Given the description of an element on the screen output the (x, y) to click on. 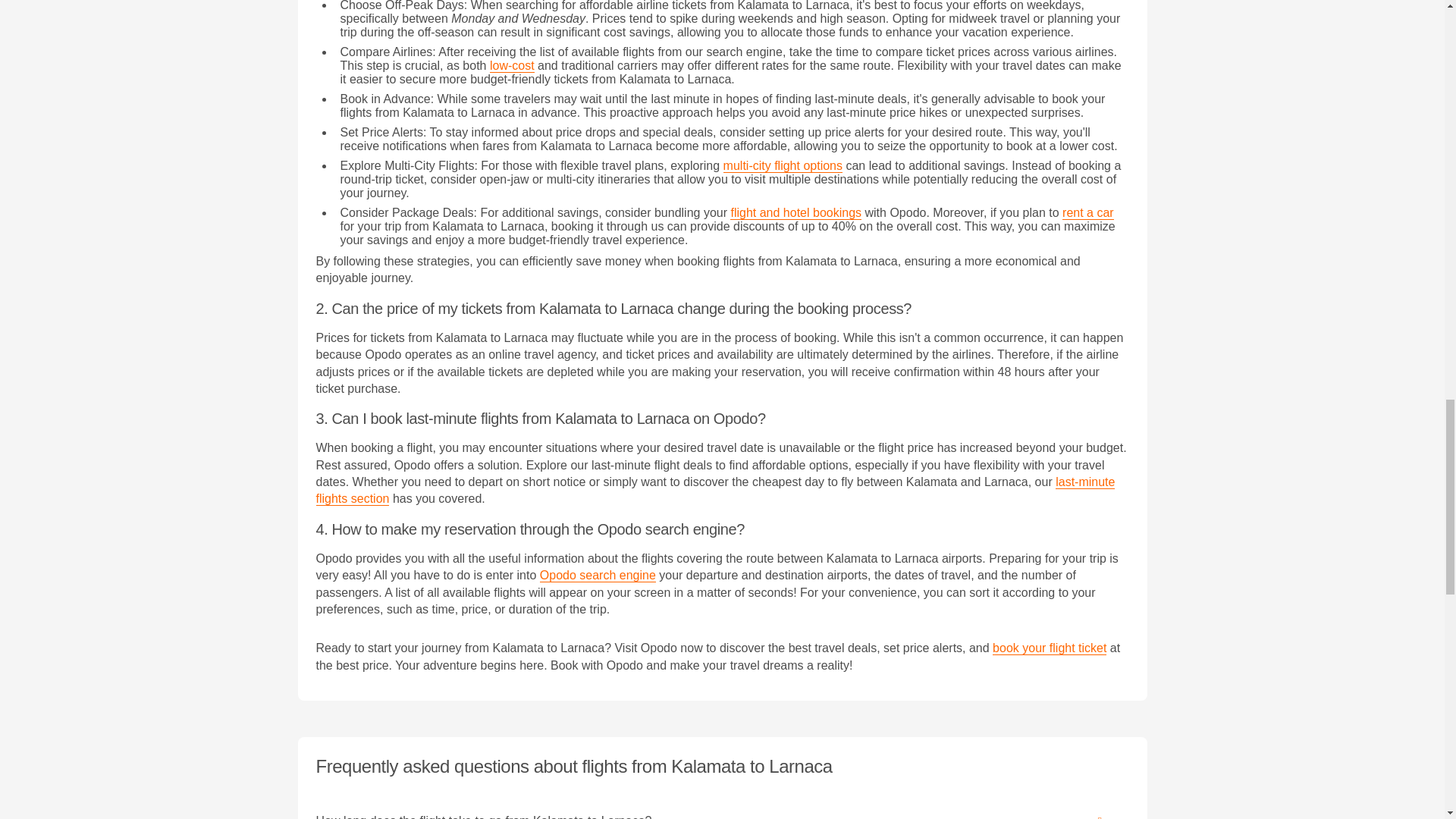
book your flight ticket (1049, 648)
flight and hotel bookings (795, 213)
last-minute flights section (715, 490)
low-cost (511, 65)
multi-city flight options (783, 165)
rent a car (1087, 213)
Opodo search engine (598, 575)
